Given the description of an element on the screen output the (x, y) to click on. 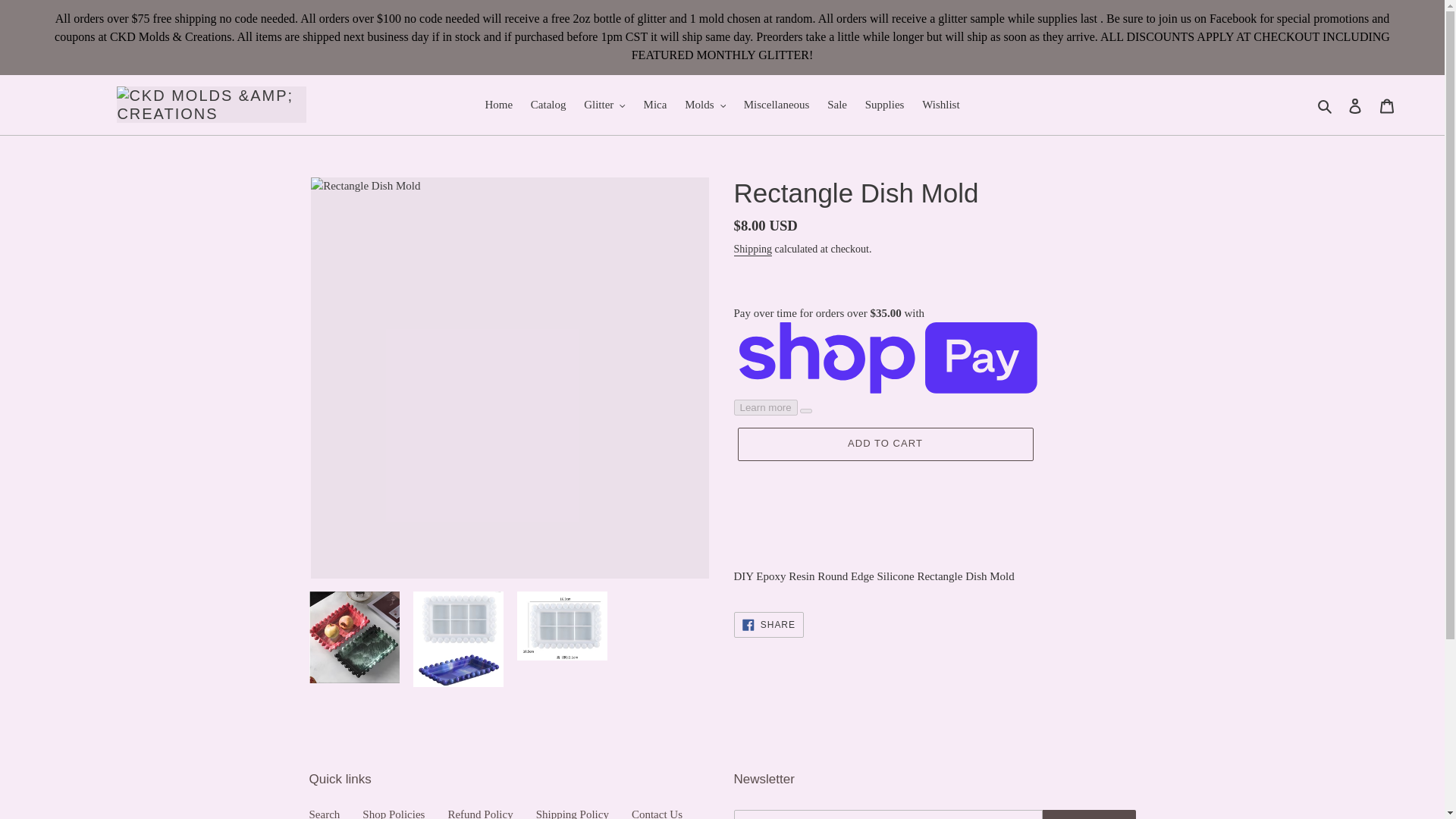
Glitter (604, 105)
Mica (655, 105)
Home (498, 105)
Catalog (547, 105)
Molds (705, 105)
